Given the description of an element on the screen output the (x, y) to click on. 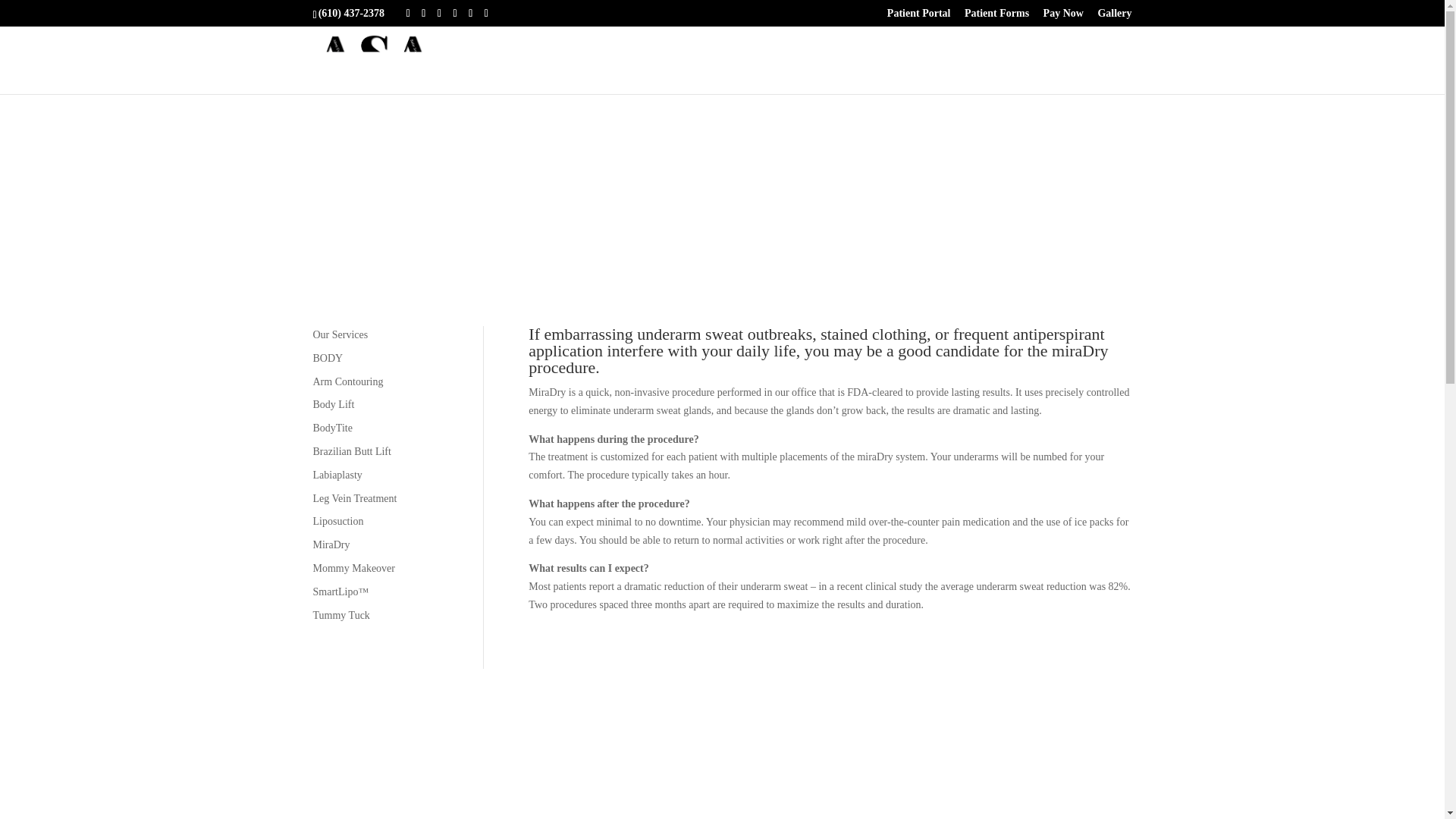
Patient Portal (918, 16)
Gallery (1114, 16)
Pay Now (1063, 16)
SERVICES (941, 73)
Patient Forms (996, 16)
ABOUT US (845, 73)
